Given the description of an element on the screen output the (x, y) to click on. 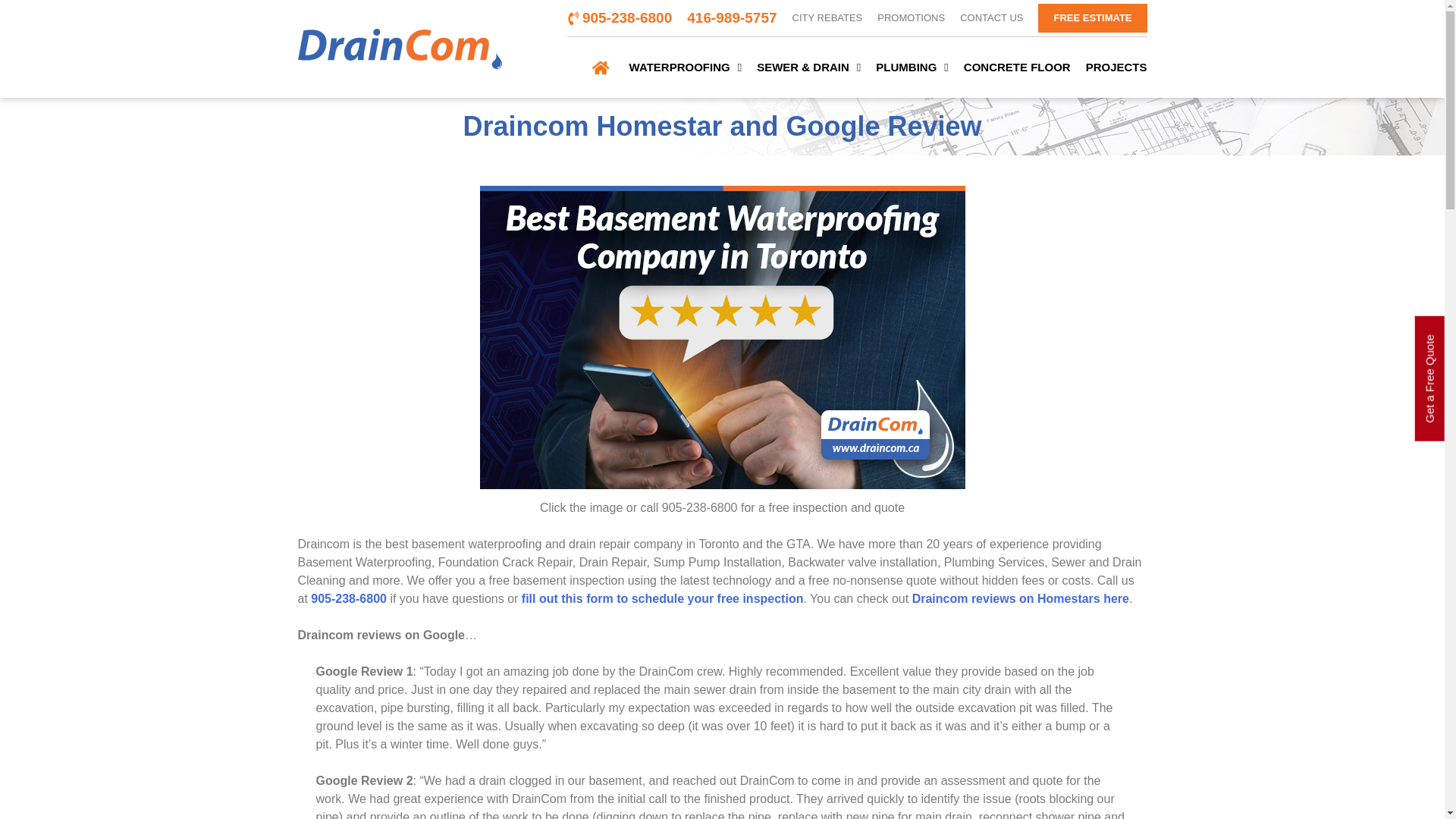
CONCRETE FLOOR (1016, 67)
CITY REBATES (827, 18)
FREE ESTIMATE (1092, 18)
WATERPROOFING (685, 67)
PROMOTIONS (910, 18)
416-989-5757 (731, 18)
. (601, 67)
PROJECTS (1116, 67)
CONTACT US (991, 18)
905-238-6800 (619, 18)
PLUMBING (911, 67)
